Given the description of an element on the screen output the (x, y) to click on. 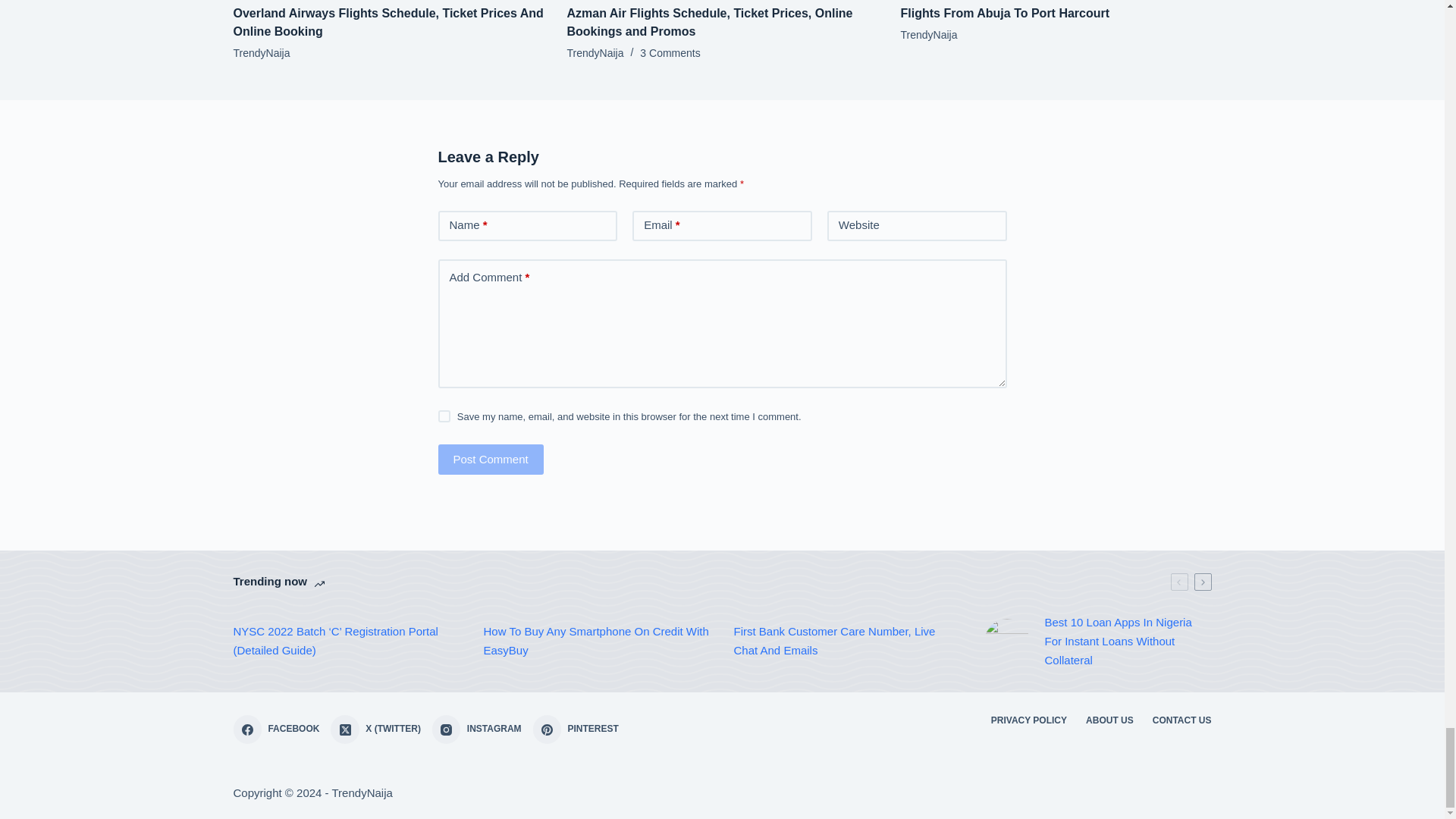
Posts by TrendyNaija (260, 52)
Posts by TrendyNaija (929, 34)
yes (443, 416)
Posts by TrendyNaija (595, 52)
